Given the description of an element on the screen output the (x, y) to click on. 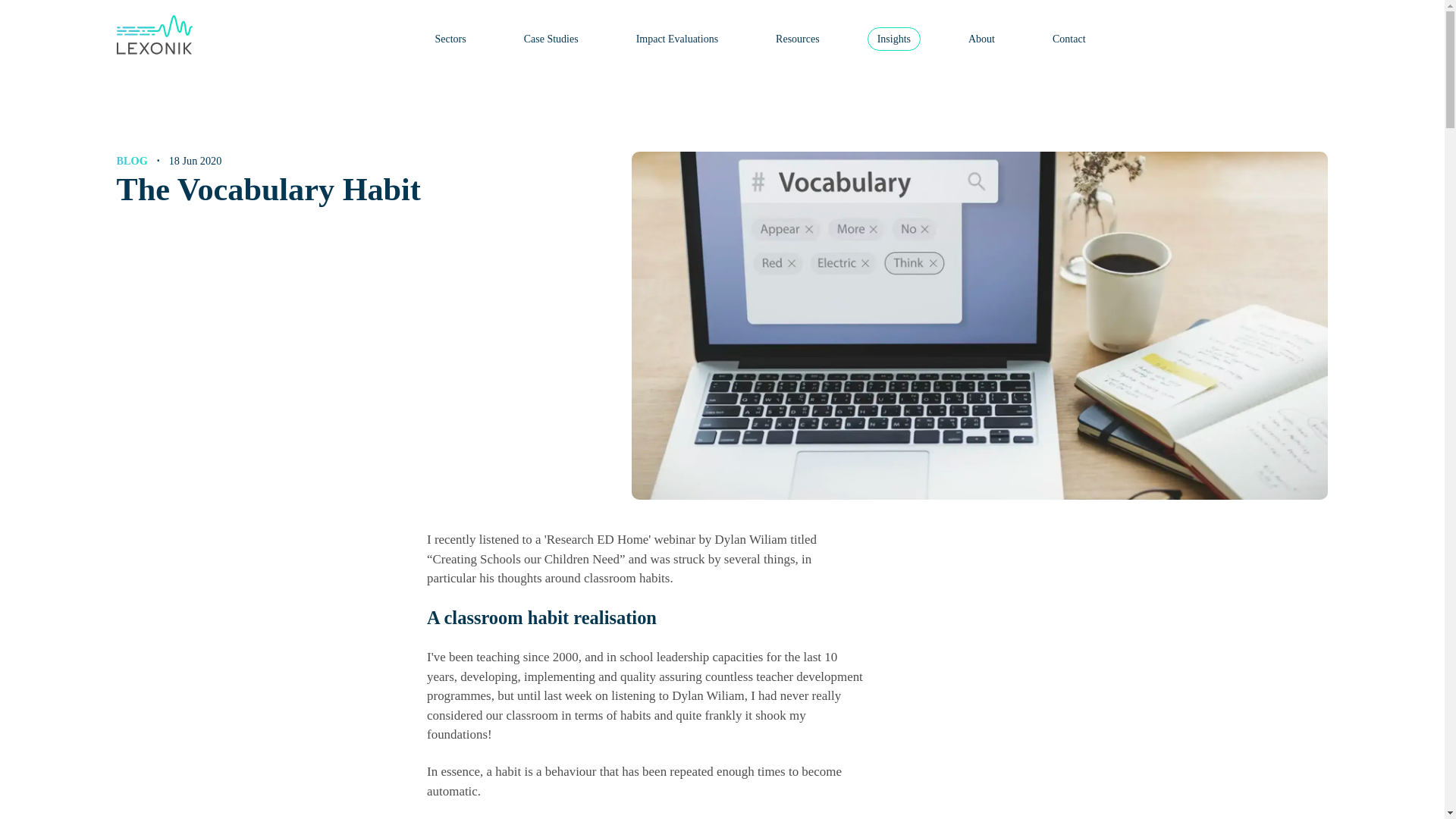
About (981, 38)
Impact Evaluations (677, 38)
Case Studies (550, 38)
Resources (797, 38)
Sectors (450, 38)
Insights (893, 38)
Contact (1069, 38)
